Given the description of an element on the screen output the (x, y) to click on. 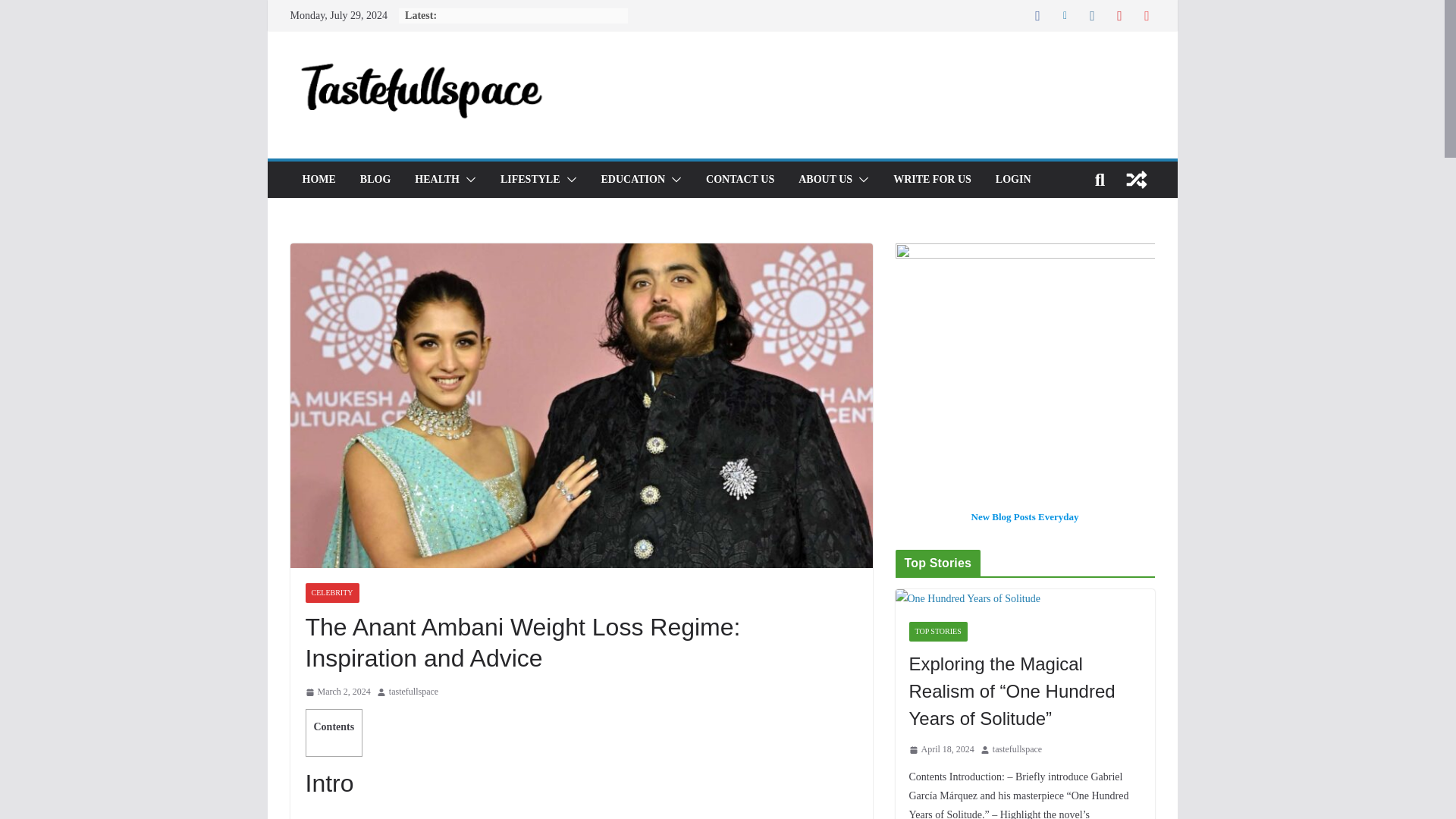
tastefullspace (413, 692)
HOME (317, 179)
View a random post (1136, 179)
CONTACT US (740, 179)
HEALTH (437, 179)
tastefullspace (413, 692)
CELEBRITY (331, 592)
LIFESTYLE (530, 179)
WRITE FOR US (932, 179)
2:22 pm (336, 692)
March 2, 2024 (336, 692)
LOGIN (1012, 179)
EDUCATION (633, 179)
BLOG (374, 179)
